Given the description of an element on the screen output the (x, y) to click on. 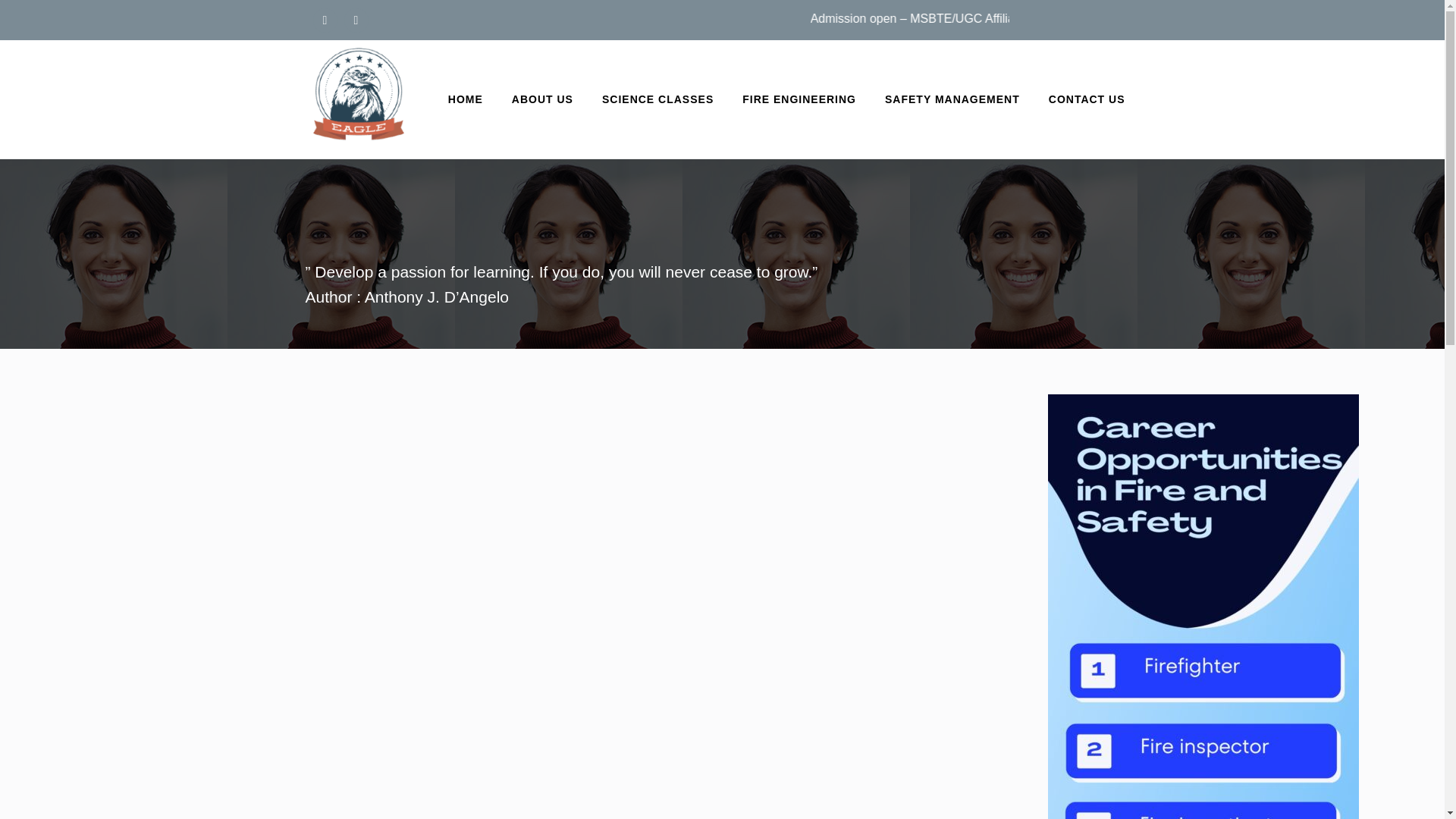
FIRE ENGINEERING (799, 98)
CONTACT US (1087, 98)
SCIENCE CLASSES (657, 98)
HOME (465, 98)
ABOUT US (542, 98)
SAFETY MANAGEMENT (951, 98)
